Given the description of an element on the screen output the (x, y) to click on. 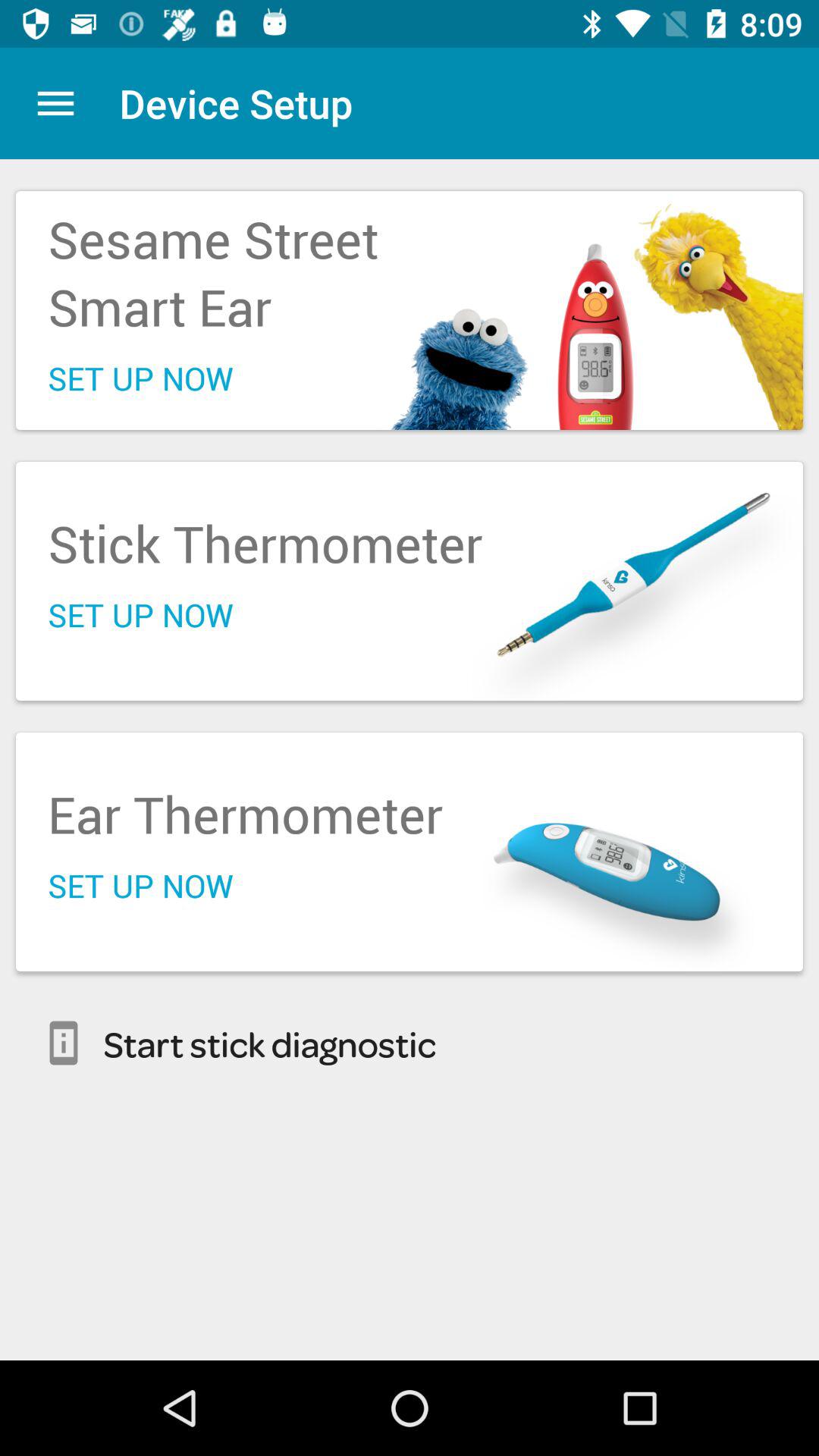
turn on the icon next to the device setup (55, 103)
